Given the description of an element on the screen output the (x, y) to click on. 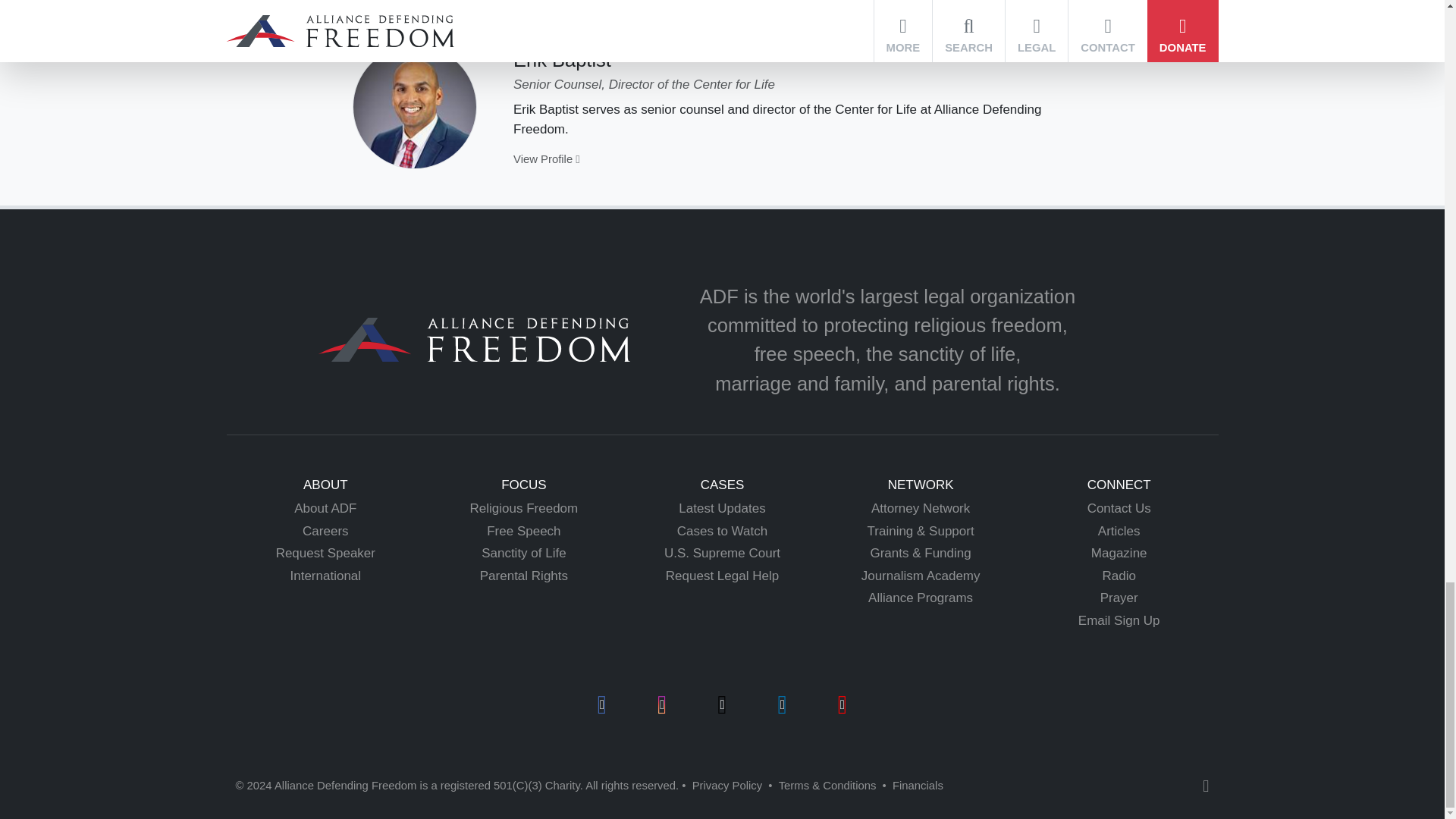
Facebook (602, 703)
Instagram (662, 703)
LinkedIn (781, 703)
YouTube (843, 703)
